Given the description of an element on the screen output the (x, y) to click on. 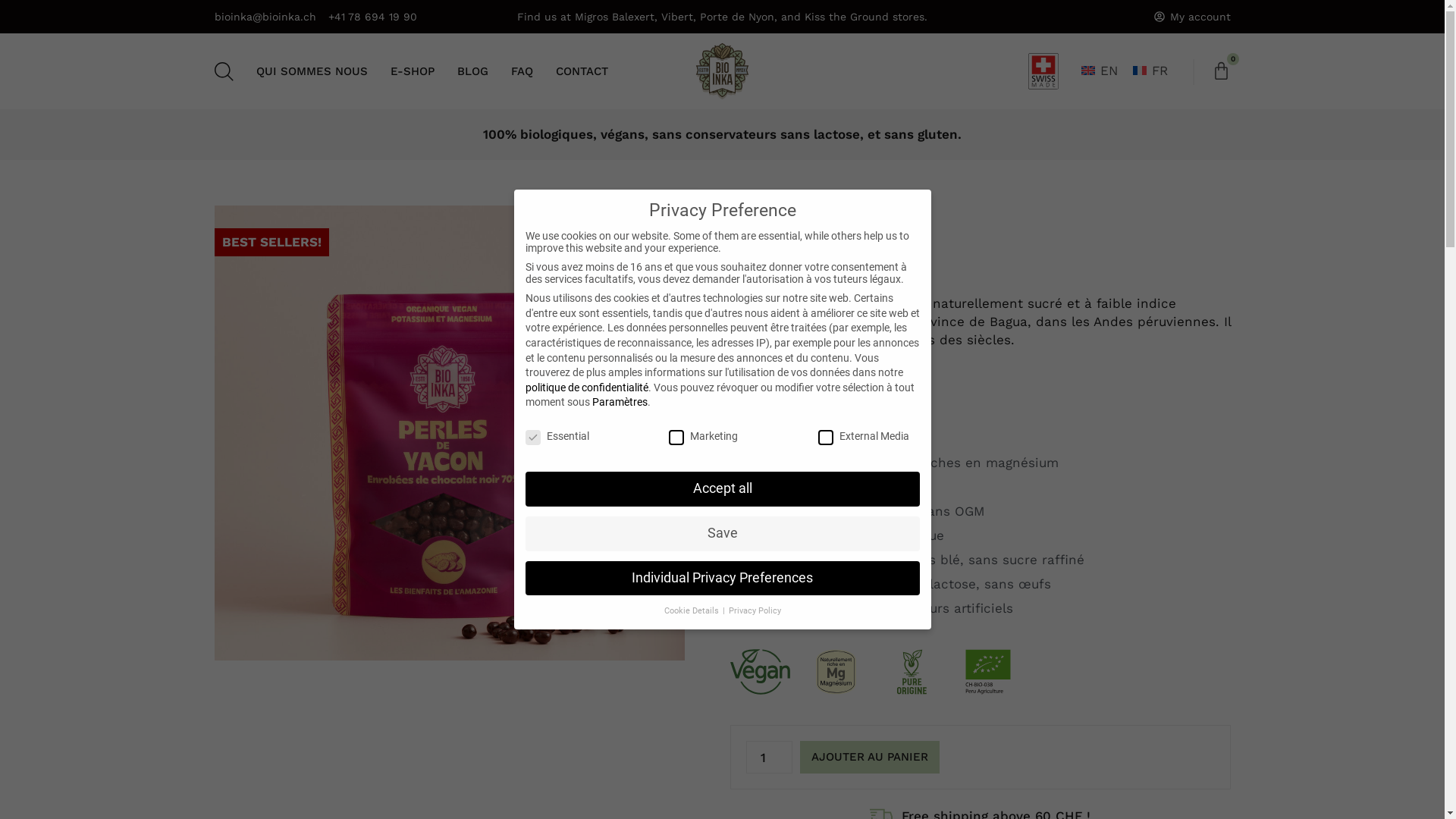
My account Element type: text (1191, 16)
QUI SOMMES NOUS Element type: text (311, 71)
Save Element type: text (721, 533)
Accept all Element type: text (721, 488)
Cookie Details Element type: text (692, 610)
Individual Privacy Preferences Element type: text (721, 578)
FR Element type: text (1150, 70)
CONTACT Element type: text (581, 71)
E-SHOP Element type: text (411, 71)
FAQ Element type: text (522, 71)
EN Element type: text (1099, 70)
AJOUTER AU PANIER Element type: text (869, 757)
bioinka@bioinka.ch Element type: text (264, 16)
BLOG Element type: text (471, 71)
0 Element type: text (1220, 72)
Privacy Policy Element type: text (754, 610)
+41 78 694 19 90 Element type: text (371, 16)
